Given the description of an element on the screen output the (x, y) to click on. 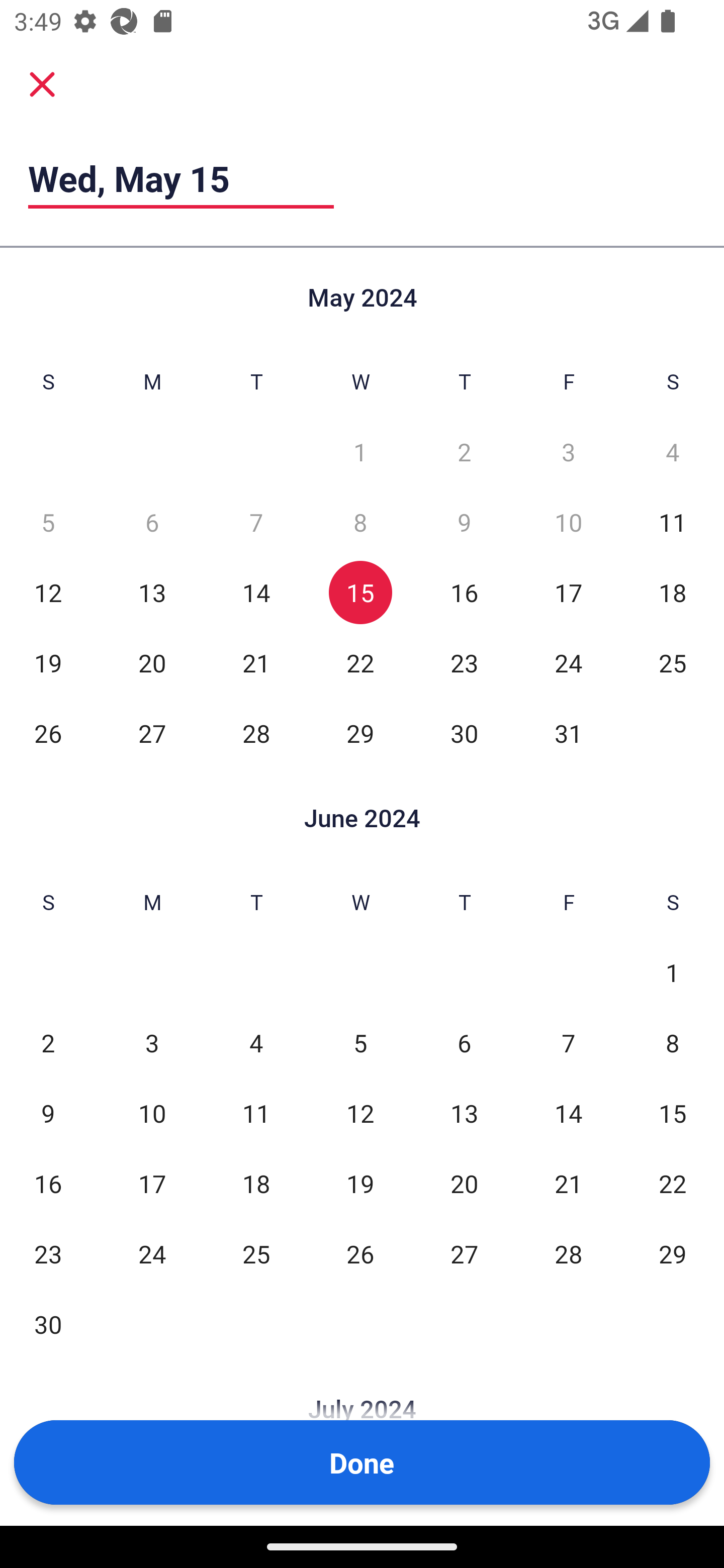
Cancel (41, 83)
Wed, May 15 (180, 178)
1 Wed, May 1, Not Selected (360, 452)
2 Thu, May 2, Not Selected (464, 452)
3 Fri, May 3, Not Selected (568, 452)
4 Sat, May 4, Not Selected (672, 452)
5 Sun, May 5, Not Selected (48, 521)
6 Mon, May 6, Not Selected (152, 521)
7 Tue, May 7, Not Selected (256, 521)
8 Wed, May 8, Not Selected (360, 521)
9 Thu, May 9, Not Selected (464, 521)
10 Fri, May 10, Not Selected (568, 521)
11 Sat, May 11, Not Selected (672, 521)
12 Sun, May 12, Not Selected (48, 591)
13 Mon, May 13, Not Selected (152, 591)
14 Tue, May 14, Not Selected (256, 591)
15 Wed, May 15, Selected (360, 591)
16 Thu, May 16, Not Selected (464, 591)
17 Fri, May 17, Not Selected (568, 591)
18 Sat, May 18, Not Selected (672, 591)
19 Sun, May 19, Not Selected (48, 662)
20 Mon, May 20, Not Selected (152, 662)
21 Tue, May 21, Not Selected (256, 662)
22 Wed, May 22, Not Selected (360, 662)
23 Thu, May 23, Not Selected (464, 662)
24 Fri, May 24, Not Selected (568, 662)
25 Sat, May 25, Not Selected (672, 662)
26 Sun, May 26, Not Selected (48, 732)
27 Mon, May 27, Not Selected (152, 732)
28 Tue, May 28, Not Selected (256, 732)
29 Wed, May 29, Not Selected (360, 732)
30 Thu, May 30, Not Selected (464, 732)
31 Fri, May 31, Not Selected (568, 732)
1 Sat, Jun 1, Not Selected (672, 972)
2 Sun, Jun 2, Not Selected (48, 1043)
3 Mon, Jun 3, Not Selected (152, 1043)
4 Tue, Jun 4, Not Selected (256, 1043)
5 Wed, Jun 5, Not Selected (360, 1043)
6 Thu, Jun 6, Not Selected (464, 1043)
7 Fri, Jun 7, Not Selected (568, 1043)
8 Sat, Jun 8, Not Selected (672, 1043)
9 Sun, Jun 9, Not Selected (48, 1112)
10 Mon, Jun 10, Not Selected (152, 1112)
11 Tue, Jun 11, Not Selected (256, 1112)
12 Wed, Jun 12, Not Selected (360, 1112)
13 Thu, Jun 13, Not Selected (464, 1112)
14 Fri, Jun 14, Not Selected (568, 1112)
15 Sat, Jun 15, Not Selected (672, 1112)
16 Sun, Jun 16, Not Selected (48, 1182)
17 Mon, Jun 17, Not Selected (152, 1182)
18 Tue, Jun 18, Not Selected (256, 1182)
19 Wed, Jun 19, Not Selected (360, 1182)
20 Thu, Jun 20, Not Selected (464, 1182)
21 Fri, Jun 21, Not Selected (568, 1182)
22 Sat, Jun 22, Not Selected (672, 1182)
23 Sun, Jun 23, Not Selected (48, 1253)
24 Mon, Jun 24, Not Selected (152, 1253)
25 Tue, Jun 25, Not Selected (256, 1253)
26 Wed, Jun 26, Not Selected (360, 1253)
27 Thu, Jun 27, Not Selected (464, 1253)
28 Fri, Jun 28, Not Selected (568, 1253)
29 Sat, Jun 29, Not Selected (672, 1253)
30 Sun, Jun 30, Not Selected (48, 1323)
Done Button Done (361, 1462)
